Given the description of an element on the screen output the (x, y) to click on. 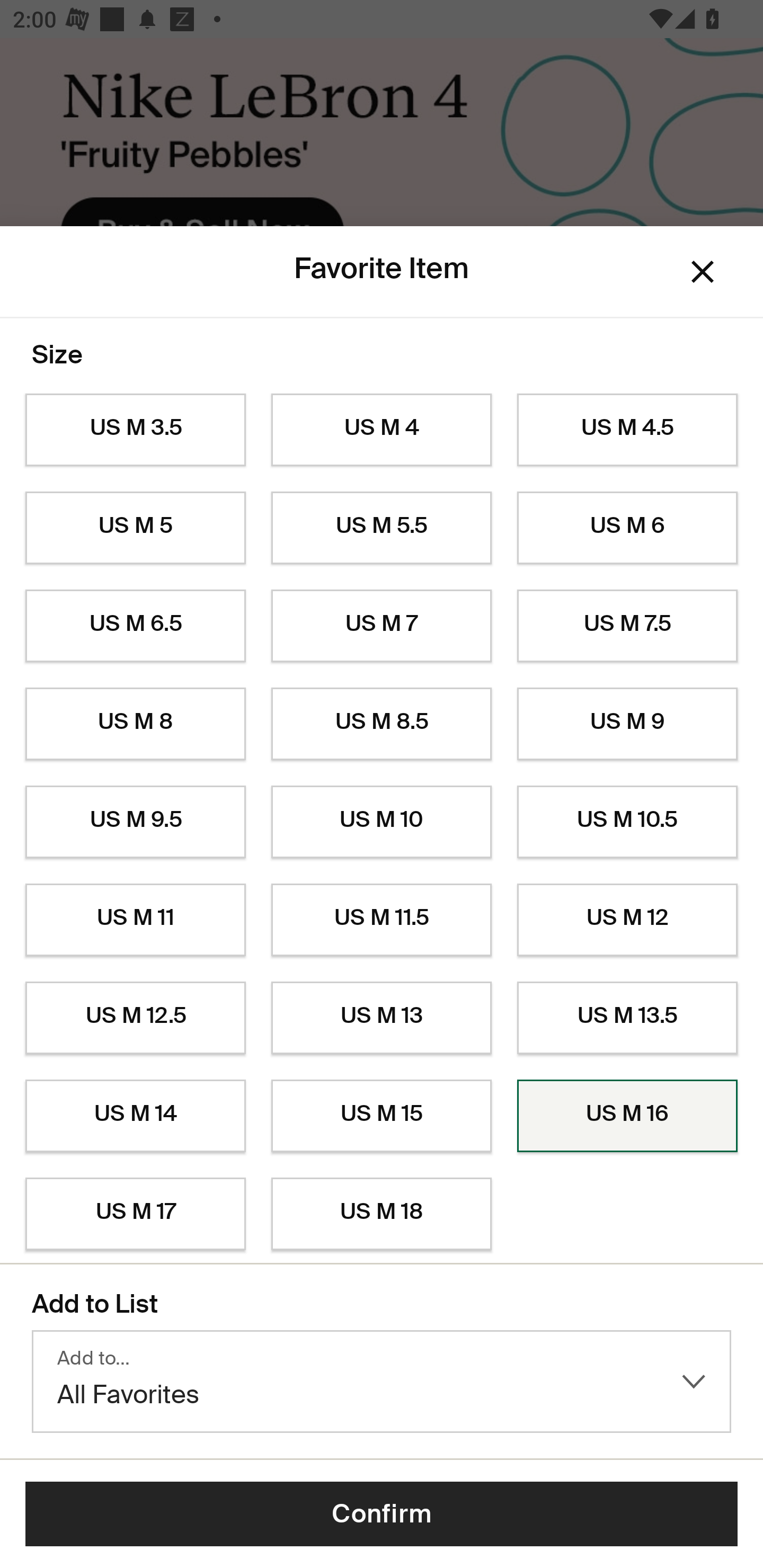
Dismiss (702, 271)
US M 3.5 (135, 430)
US M 4 (381, 430)
US M 4.5 (627, 430)
US M 5 (135, 527)
US M 5.5 (381, 527)
US M 6 (627, 527)
US M 6.5 (135, 626)
US M 7 (381, 626)
US M 7.5 (627, 626)
US M 8 (135, 724)
US M 8.5 (381, 724)
US M 9 (627, 724)
US M 9.5 (135, 822)
US M 10 (381, 822)
US M 10.5 (627, 822)
US M 11 (135, 919)
US M 11.5 (381, 919)
US M 12 (627, 919)
US M 12.5 (135, 1018)
US M 13 (381, 1018)
US M 13.5 (627, 1018)
US M 14 (135, 1116)
US M 15 (381, 1116)
US M 16 (627, 1116)
US M 17 (135, 1214)
US M 18 (381, 1214)
Add to… All Favorites (381, 1381)
Confirm (381, 1513)
